Given the description of an element on the screen output the (x, y) to click on. 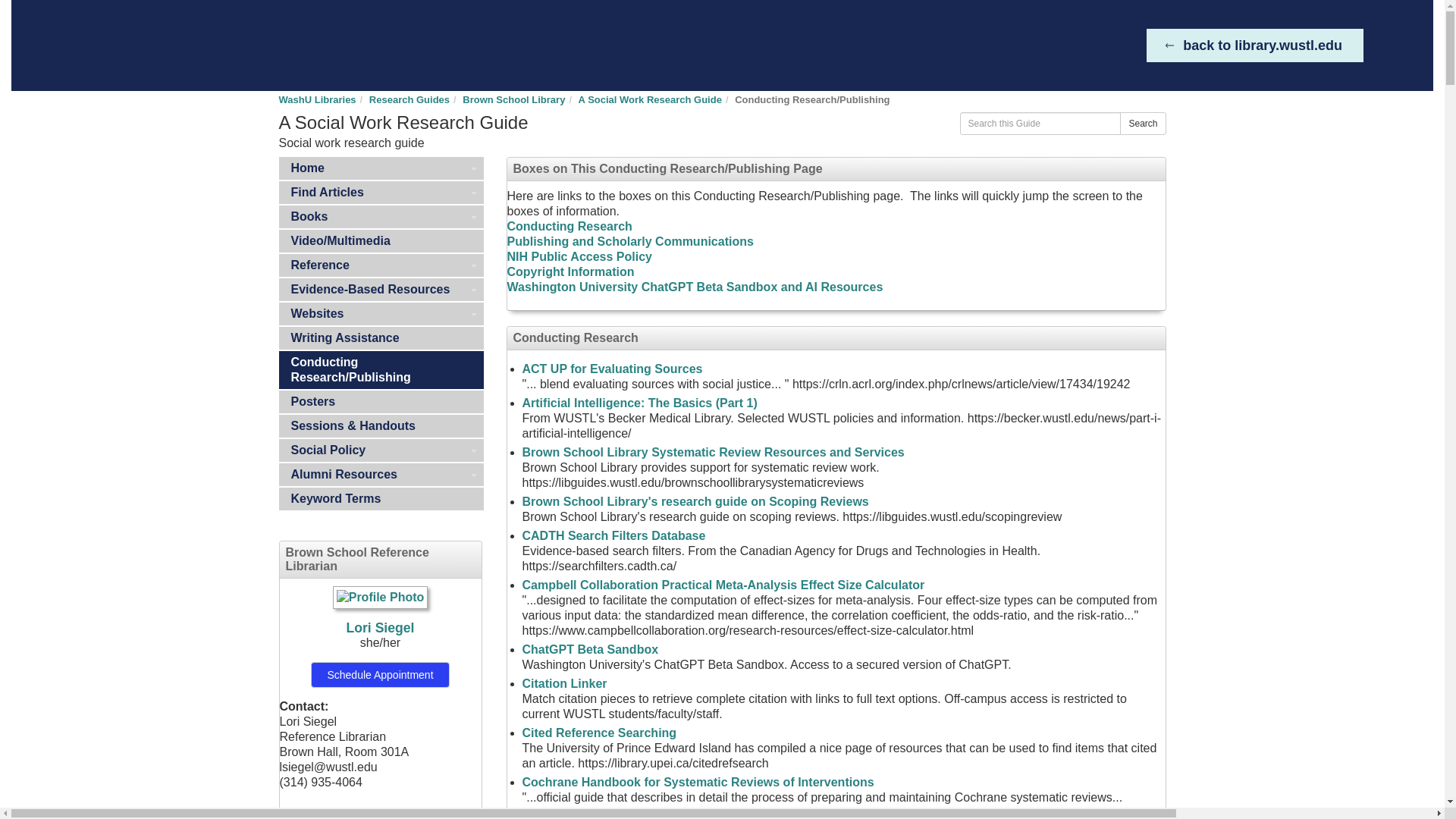
Find Articles (381, 191)
Books (381, 216)
back to library.wustl.edu (1254, 45)
Search (1142, 123)
Toggle Dropdown (473, 216)
A Social Work Research Guide (650, 99)
Toggle Dropdown (473, 289)
Toggle Dropdown (473, 191)
Toggle Dropdown (473, 264)
Home (381, 168)
